Given the description of an element on the screen output the (x, y) to click on. 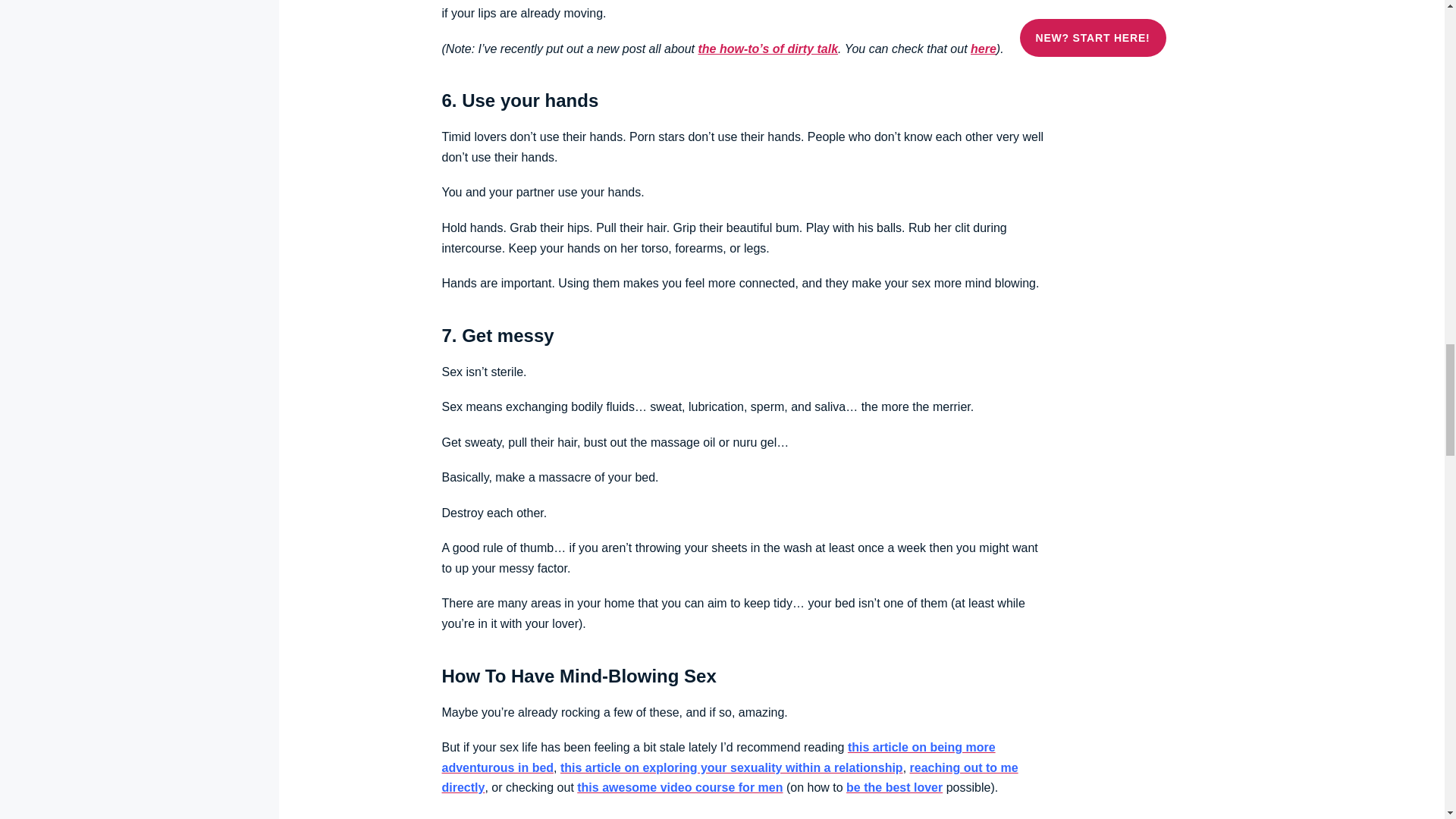
reaching out to me directly (729, 777)
this article on being more adventurous in bed (717, 757)
this awesome video course for men (679, 787)
be the best lover (893, 787)
here (983, 48)
